Given the description of an element on the screen output the (x, y) to click on. 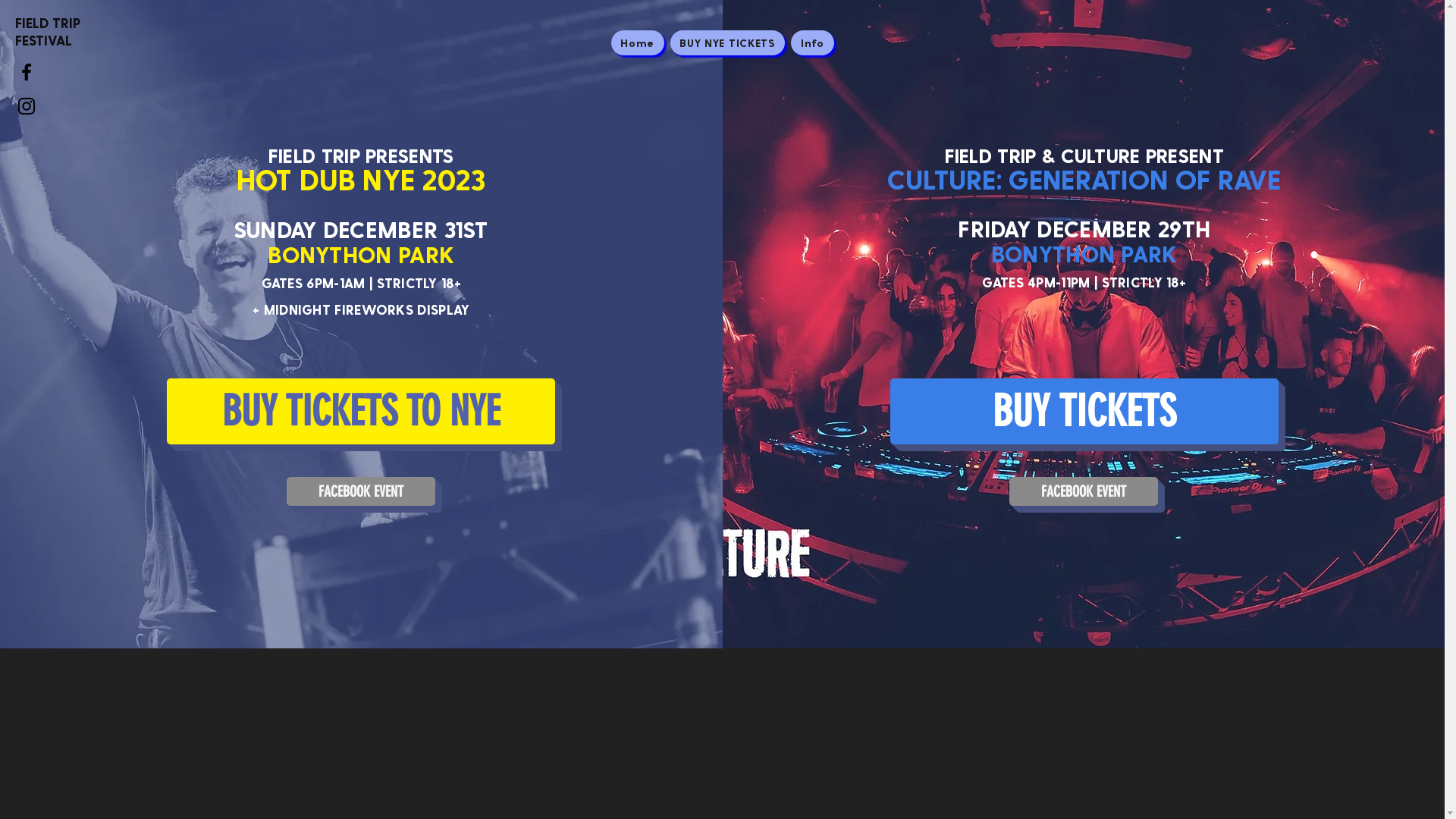
FACEBOOK EVENT Element type: text (360, 490)
BUY TICKETS TO NYE Element type: text (360, 411)
BUY TICKETS Element type: text (1084, 411)
FIELD TRIP Element type: text (47, 22)
BUY NYE TICKETS Element type: text (727, 42)
Info Element type: text (811, 42)
Home Element type: text (637, 42)
FACEBOOK EVENT Element type: text (1083, 490)
